Given the description of an element on the screen output the (x, y) to click on. 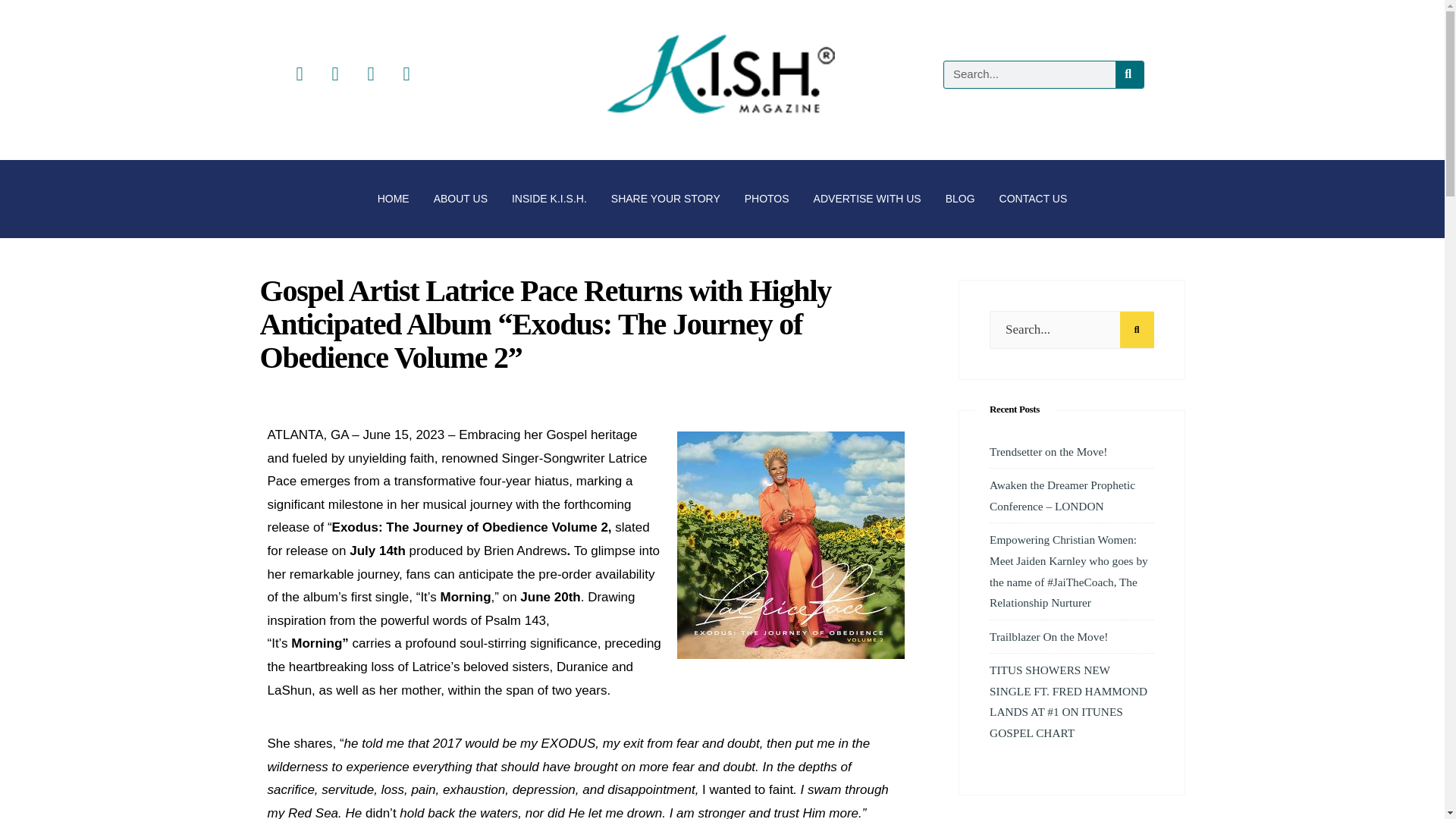
ADVERTISE WITH US (867, 198)
INSIDE K.I.S.H. (548, 198)
Search... (1071, 329)
CONTACT US (1033, 198)
ABOUT US (460, 198)
SHARE YOUR STORY (665, 198)
